Given the description of an element on the screen output the (x, y) to click on. 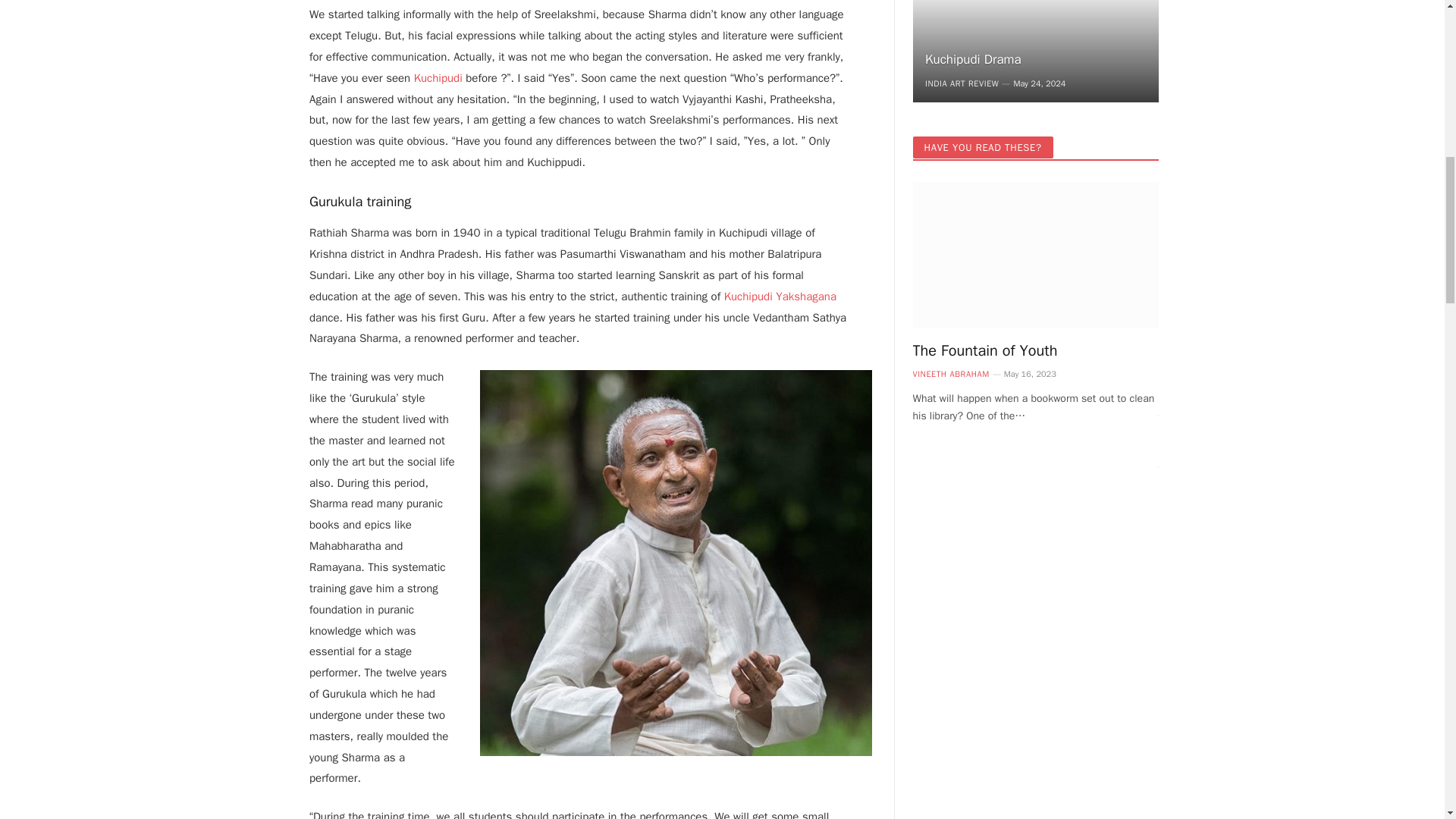
Kuchipudi Yakshagana (779, 296)
Kuchipudi (439, 78)
